Given the description of an element on the screen output the (x, y) to click on. 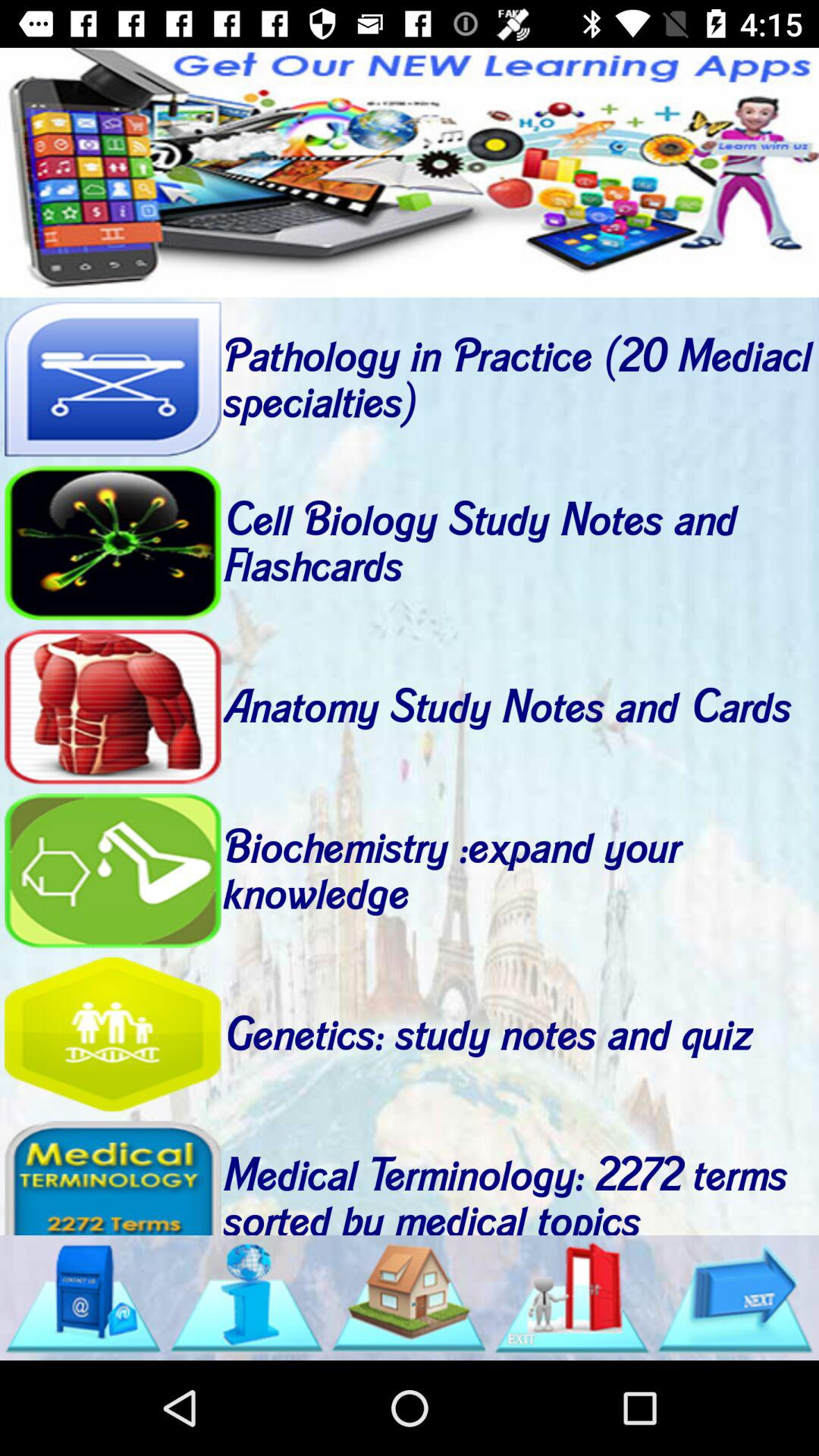
come back (112, 1034)
